Given the description of an element on the screen output the (x, y) to click on. 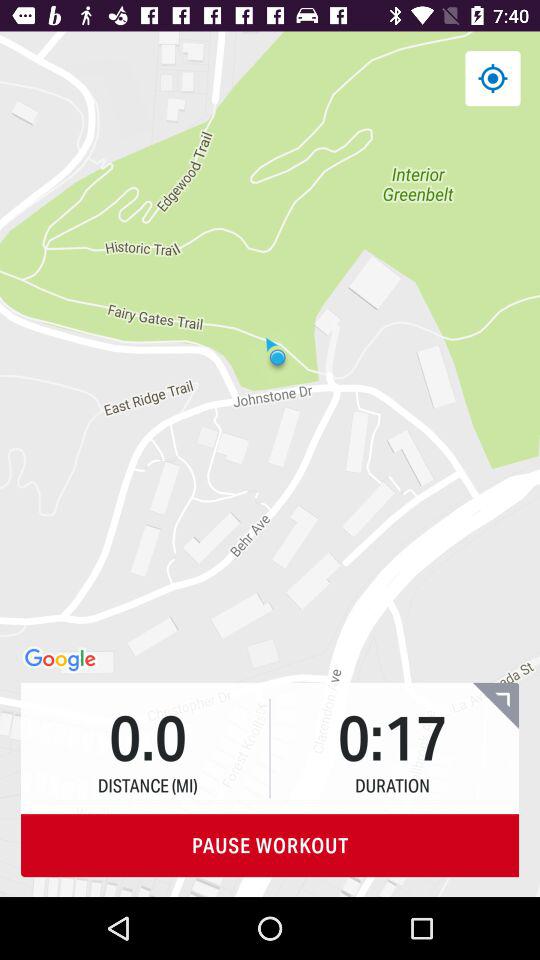
show current location (492, 78)
